Given the description of an element on the screen output the (x, y) to click on. 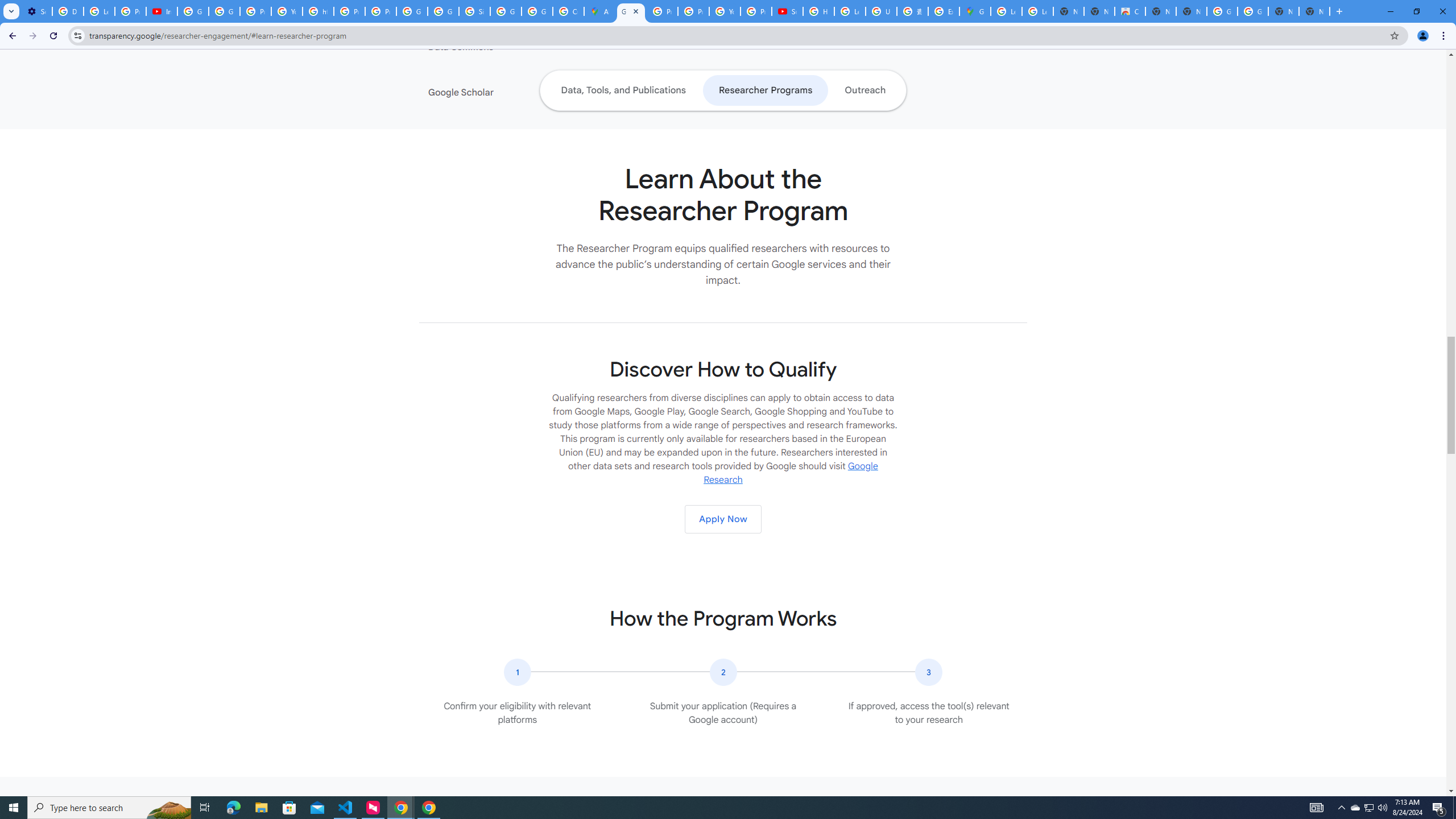
Google Maps (974, 11)
Data Commons (497, 46)
The number two in a circular icon. (722, 672)
